Given the description of an element on the screen output the (x, y) to click on. 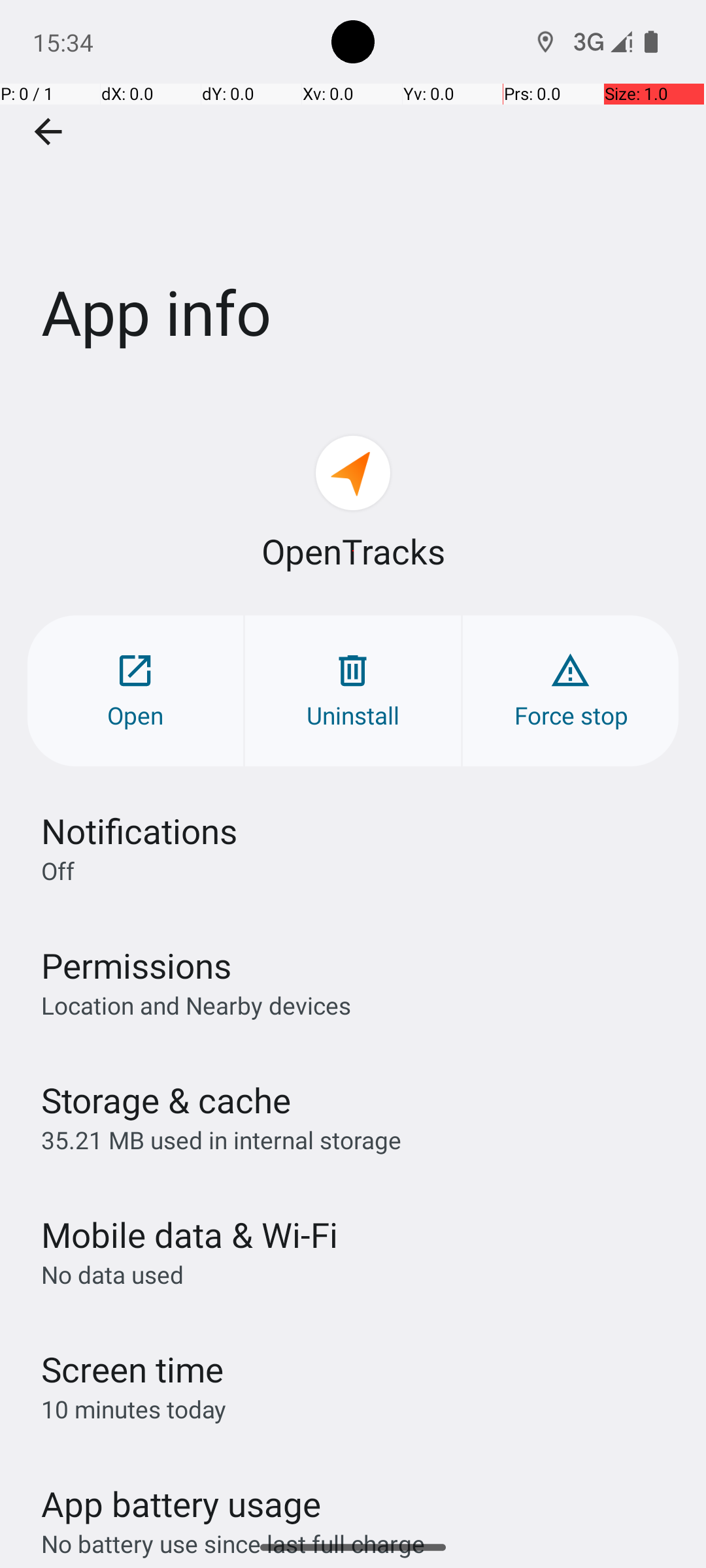
Open Element type: android.widget.Button (135, 690)
Uninstall Element type: android.widget.Button (352, 690)
Location and Nearby devices Element type: android.widget.TextView (196, 1004)
35.21 MB used in internal storage Element type: android.widget.TextView (221, 1139)
No data used Element type: android.widget.TextView (112, 1273)
10 minutes today Element type: android.widget.TextView (133, 1408)
App battery usage Element type: android.widget.TextView (181, 1503)
